Given the description of an element on the screen output the (x, y) to click on. 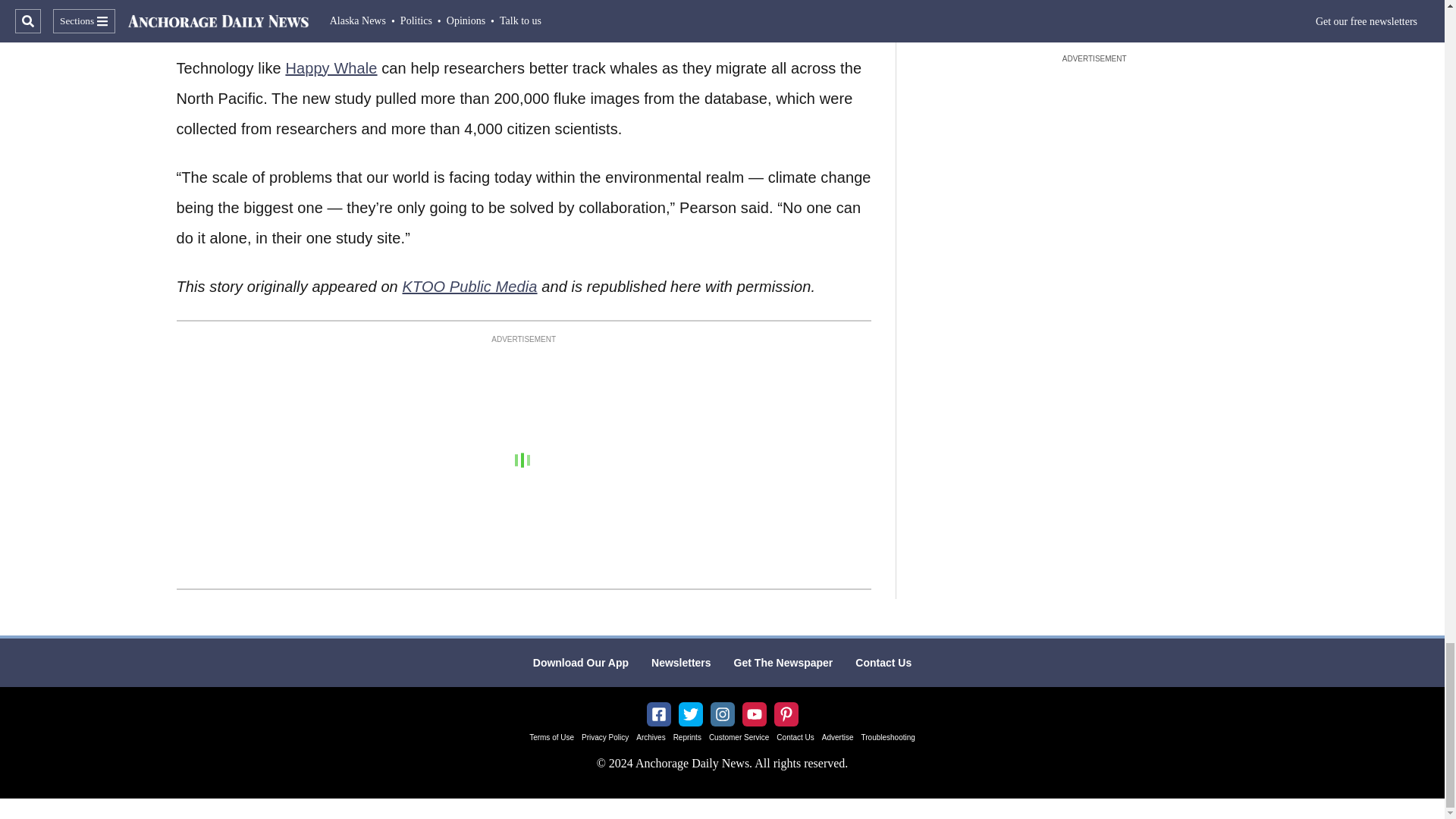
Twitter IconTwitter Account for Anchorage Daily News (689, 713)
Facebook IconAnchorage Daily News Facebook Page (657, 713)
YouTube iconAnchorage Daily News YouTube channel (753, 713)
Instagram IconAnchorage Daily News instagram account (721, 713)
PinterestAnchorage Daily News Pinterest Account (785, 713)
